Given the description of an element on the screen output the (x, y) to click on. 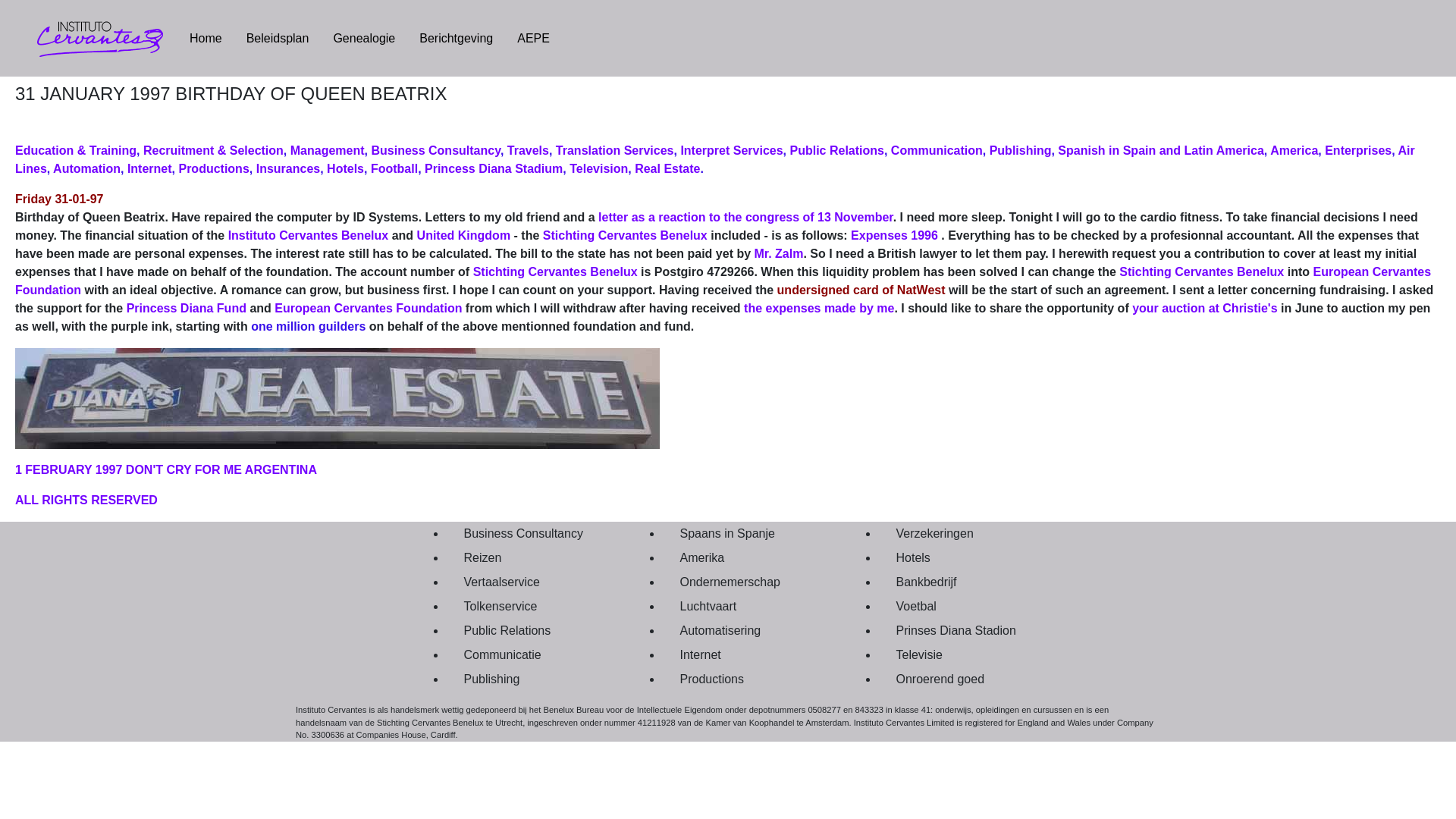
Television (598, 168)
United Kingdom (463, 235)
European Cervantes Foundation (722, 280)
Translation Services (615, 150)
Beleidsplan (277, 37)
Stichting Cervantes Benelux (1201, 271)
Princess Diana Fund (184, 308)
Management (327, 150)
Mr. Zalm (778, 253)
Princess Diana Stadium (493, 168)
